Given the description of an element on the screen output the (x, y) to click on. 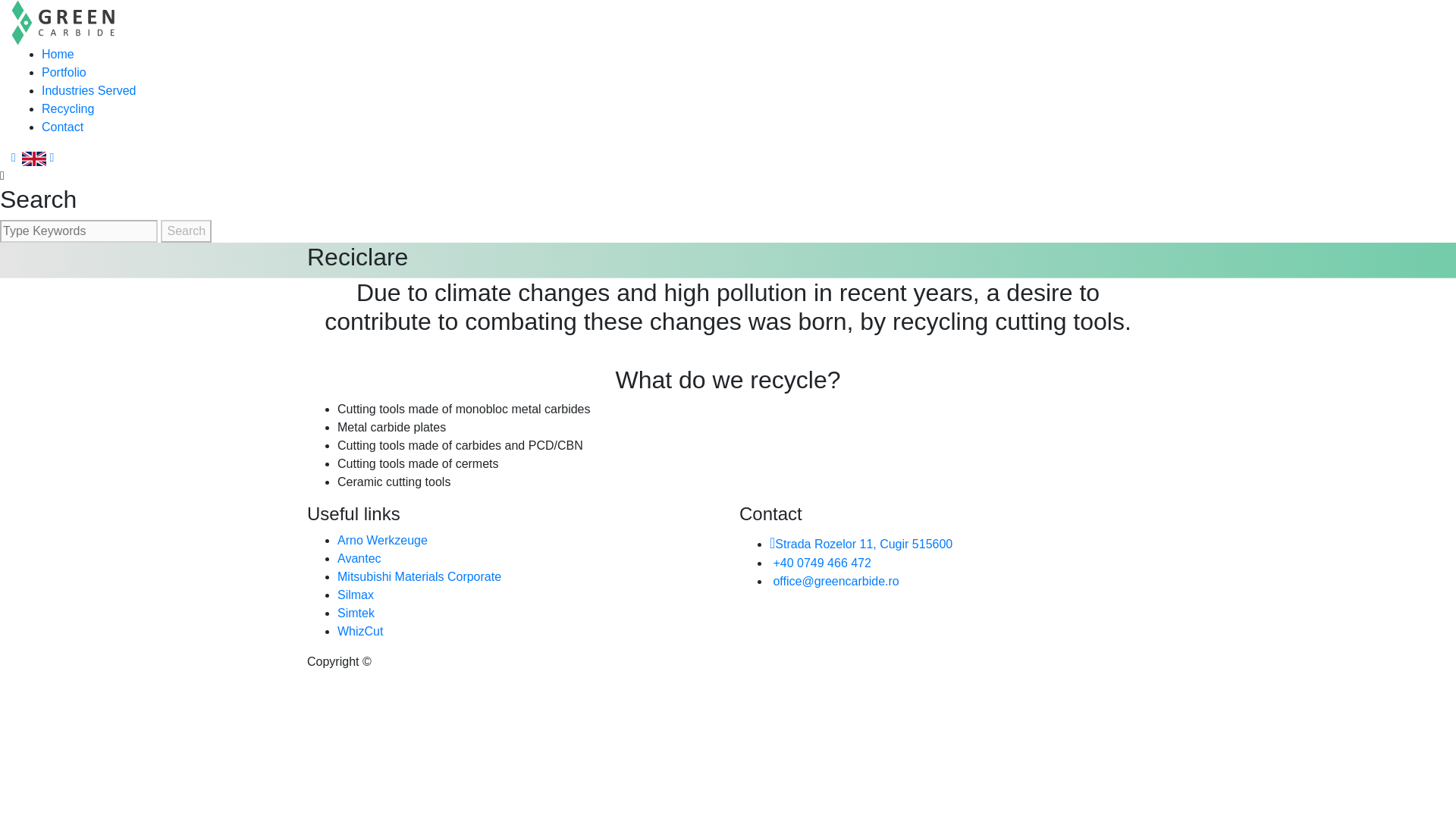
Recycling (68, 108)
Mitsubishi Materials Corporate (418, 576)
Arno Werkzeuge (382, 540)
Silmax (355, 594)
Simtek (355, 612)
Strada Rozelor 11, Cugir 515600 (861, 543)
Contact (62, 126)
Avantec (359, 558)
Home (58, 53)
Portfolio (63, 72)
WhizCut (359, 631)
Search (185, 231)
Industries Served (89, 90)
